Given the description of an element on the screen output the (x, y) to click on. 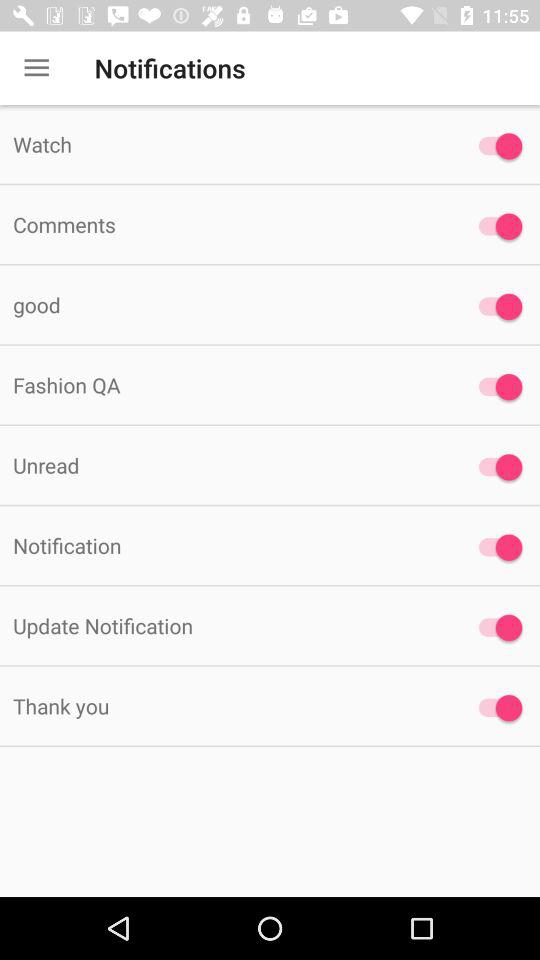
toggle notification option for watch (495, 146)
